Given the description of an element on the screen output the (x, y) to click on. 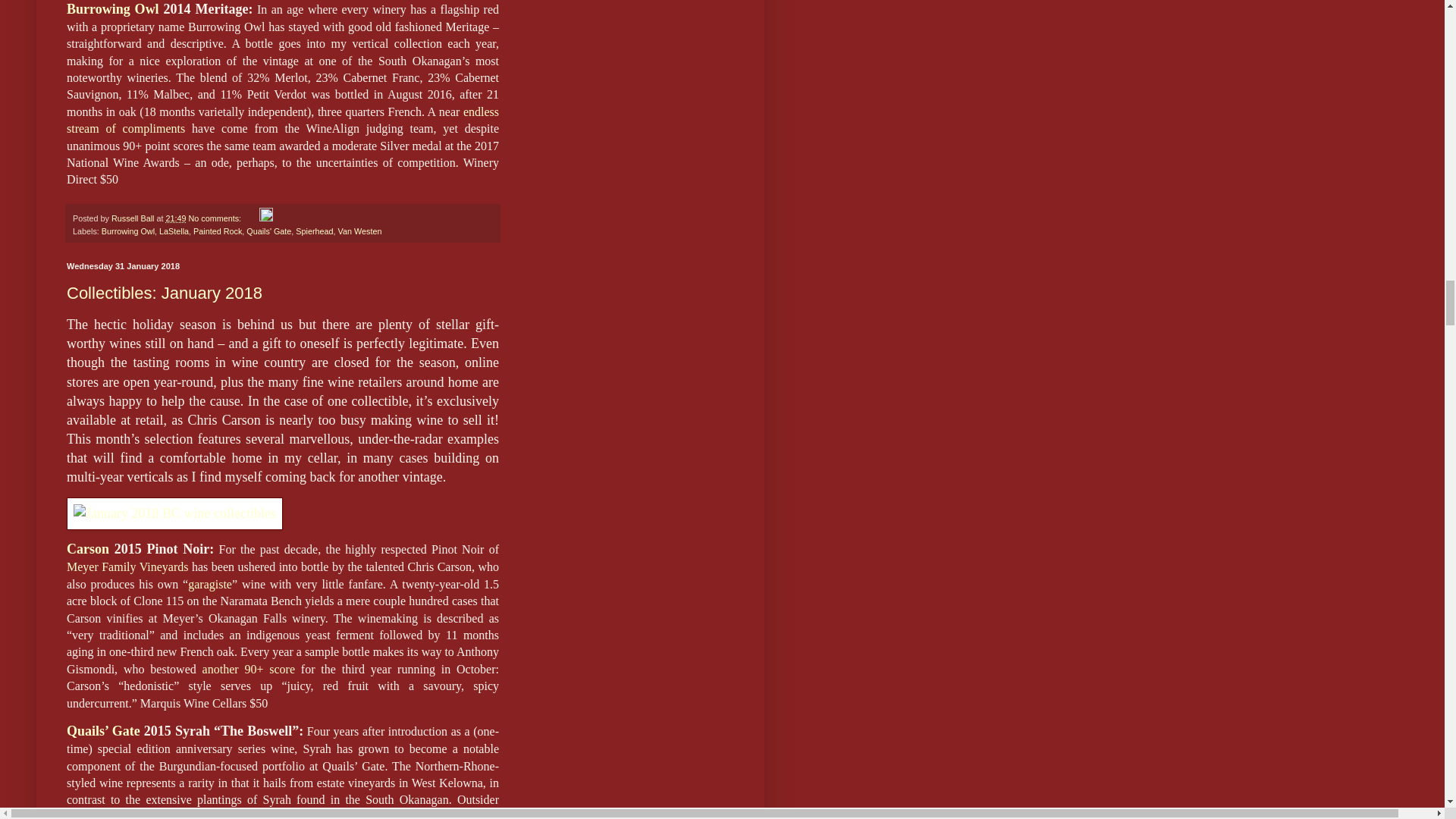
permanent link (175, 217)
author profile (133, 217)
